Given the description of an element on the screen output the (x, y) to click on. 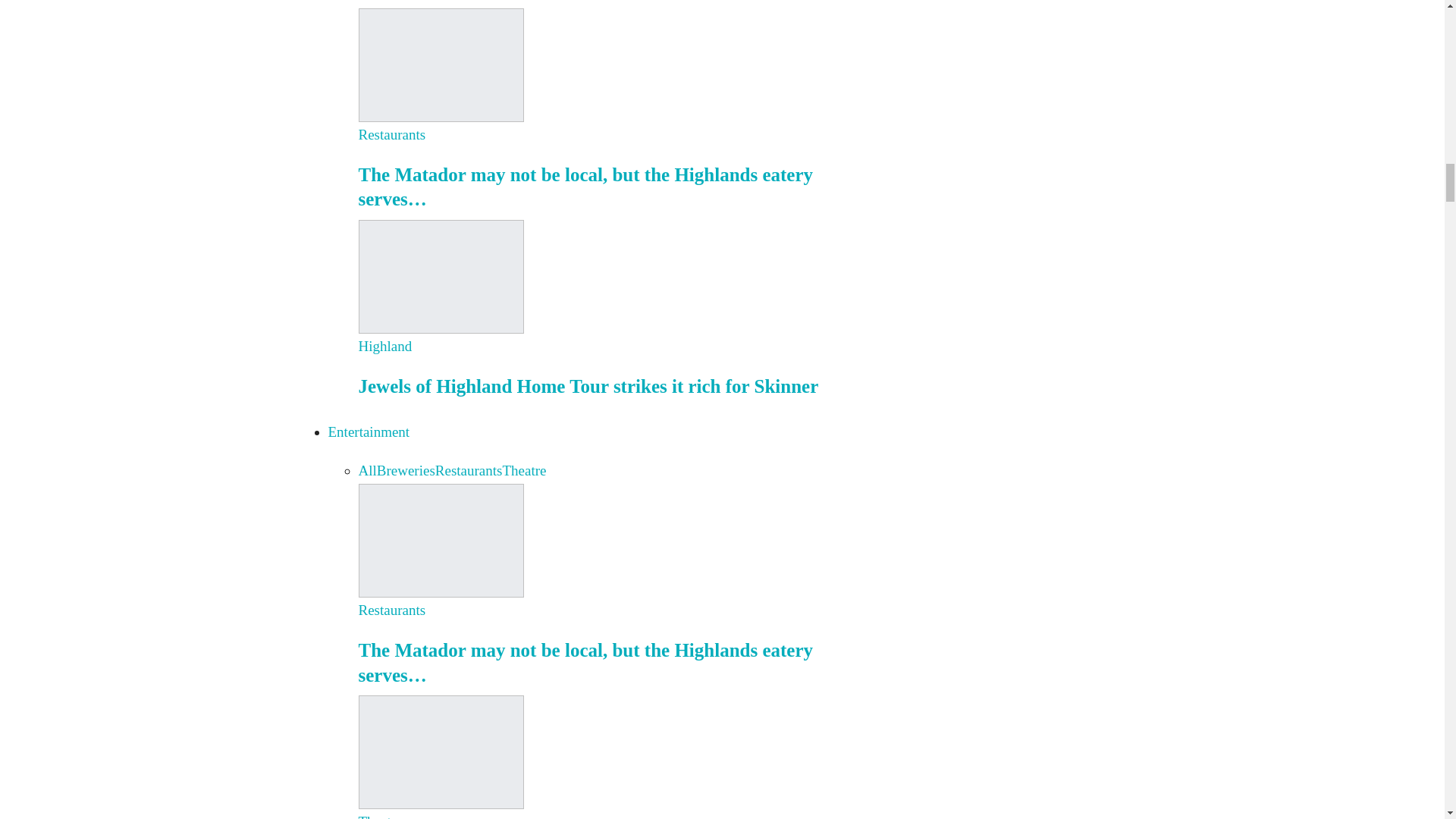
Jewels of Highland Home Tour strikes it rich for Skinner (440, 274)
